Given the description of an element on the screen output the (x, y) to click on. 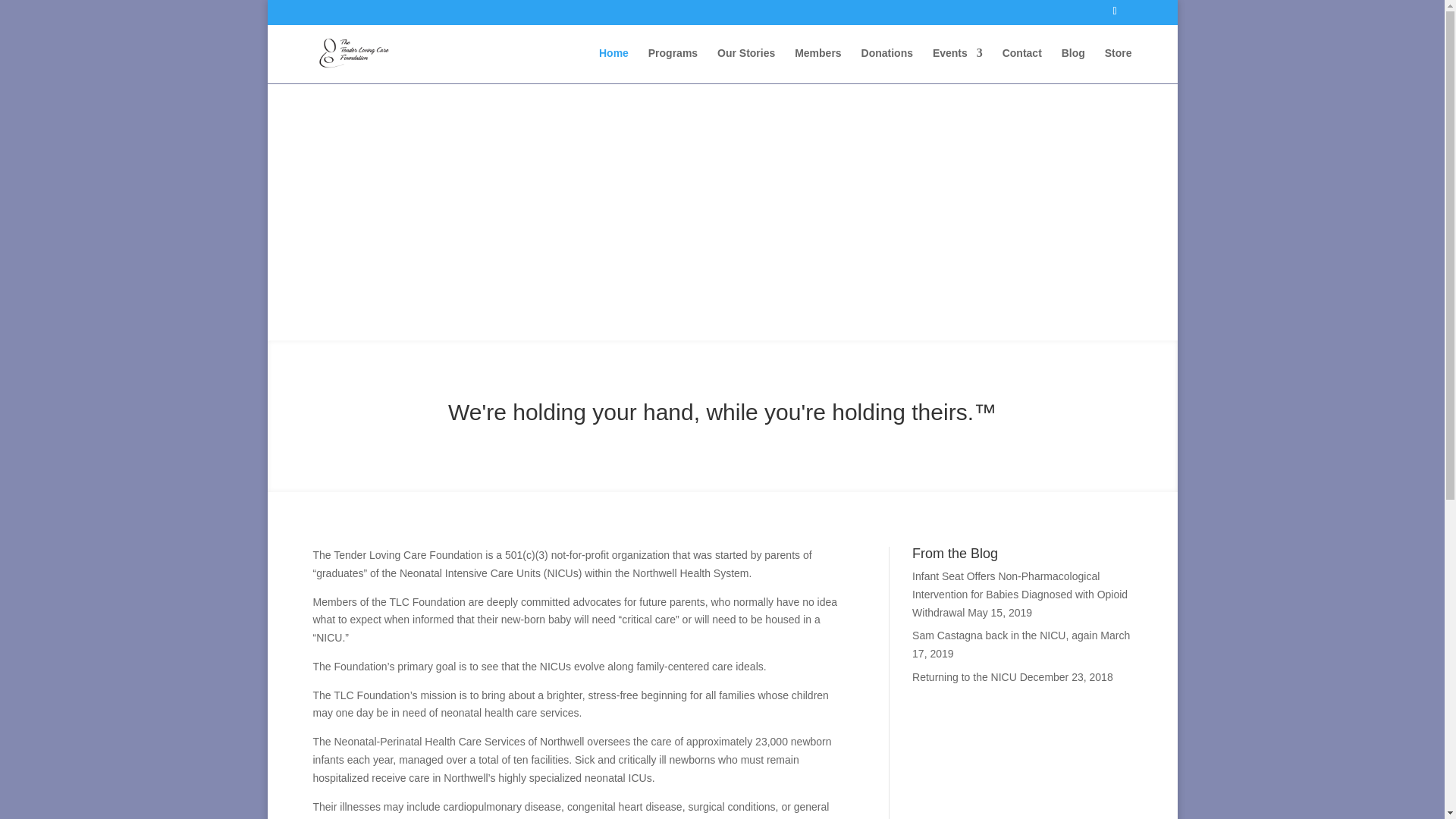
Donations (886, 65)
Members (817, 65)
Contact (1022, 65)
Returning to the NICU (964, 676)
Our Stories (745, 65)
Events (957, 65)
Sam Castagna back in the NICU, again (1004, 635)
Programs (672, 65)
